Given the description of an element on the screen output the (x, y) to click on. 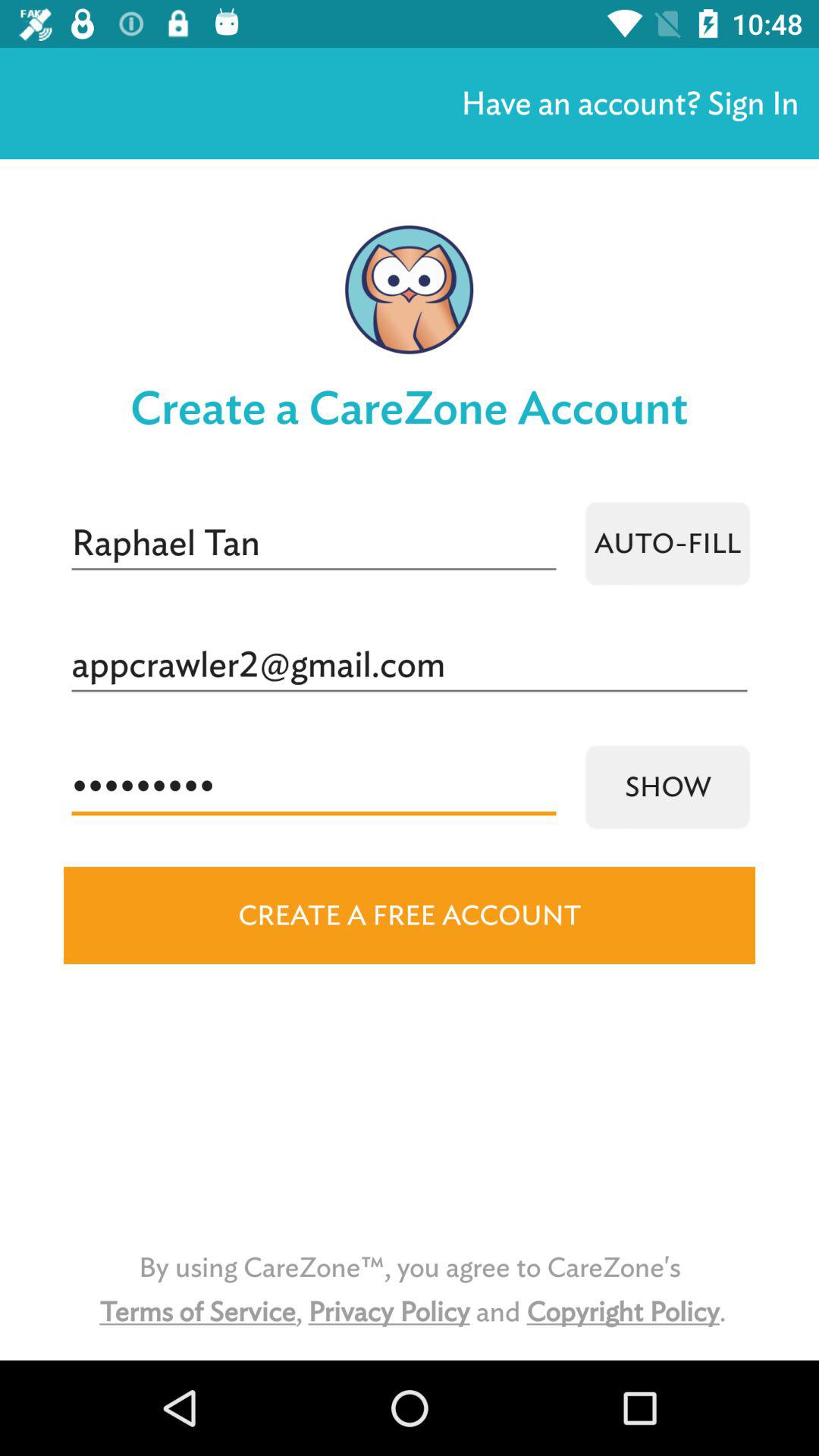
choose the icon next to the crowd3116 (667, 786)
